Given the description of an element on the screen output the (x, y) to click on. 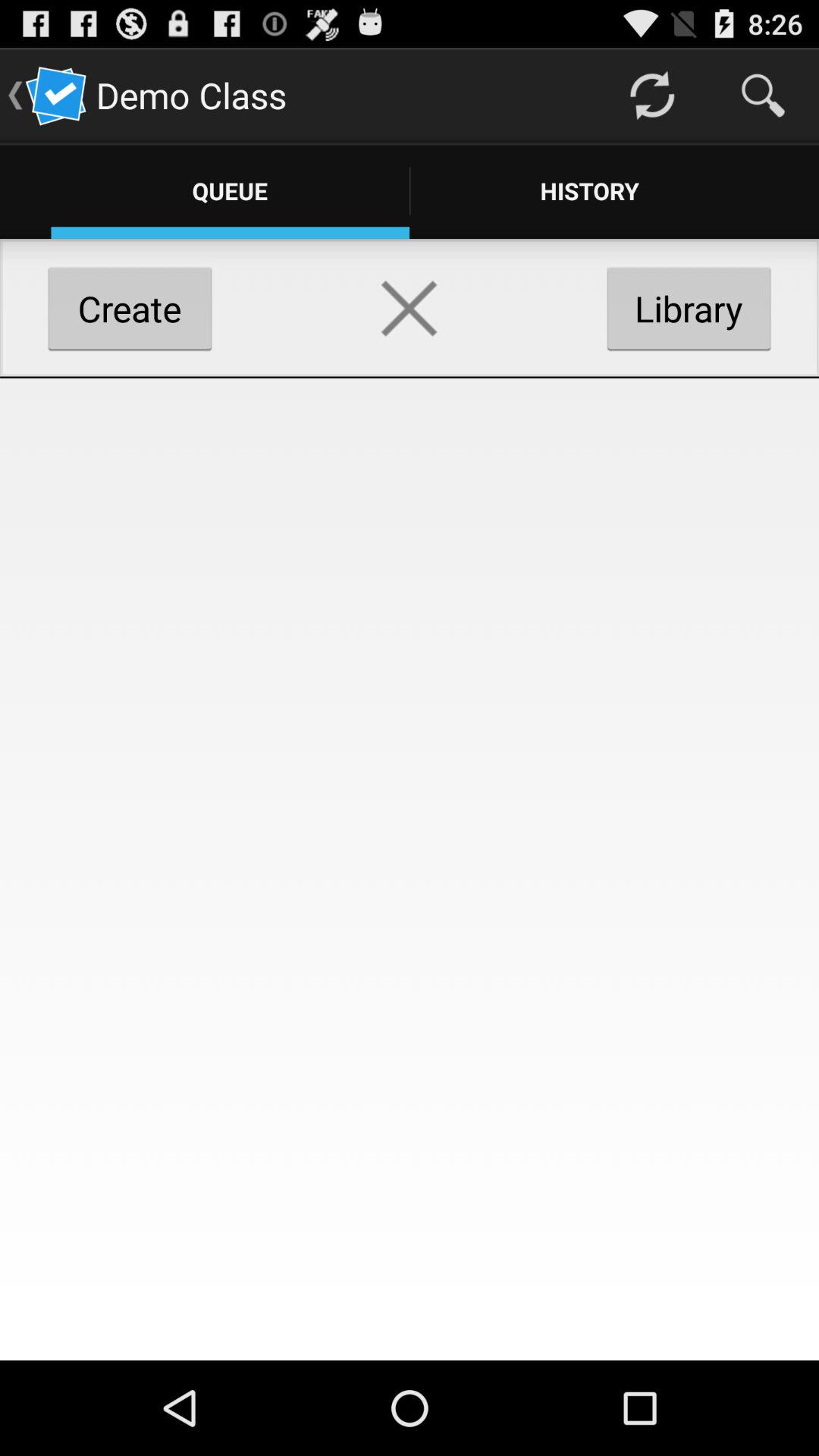
close button (408, 308)
